Given the description of an element on the screen output the (x, y) to click on. 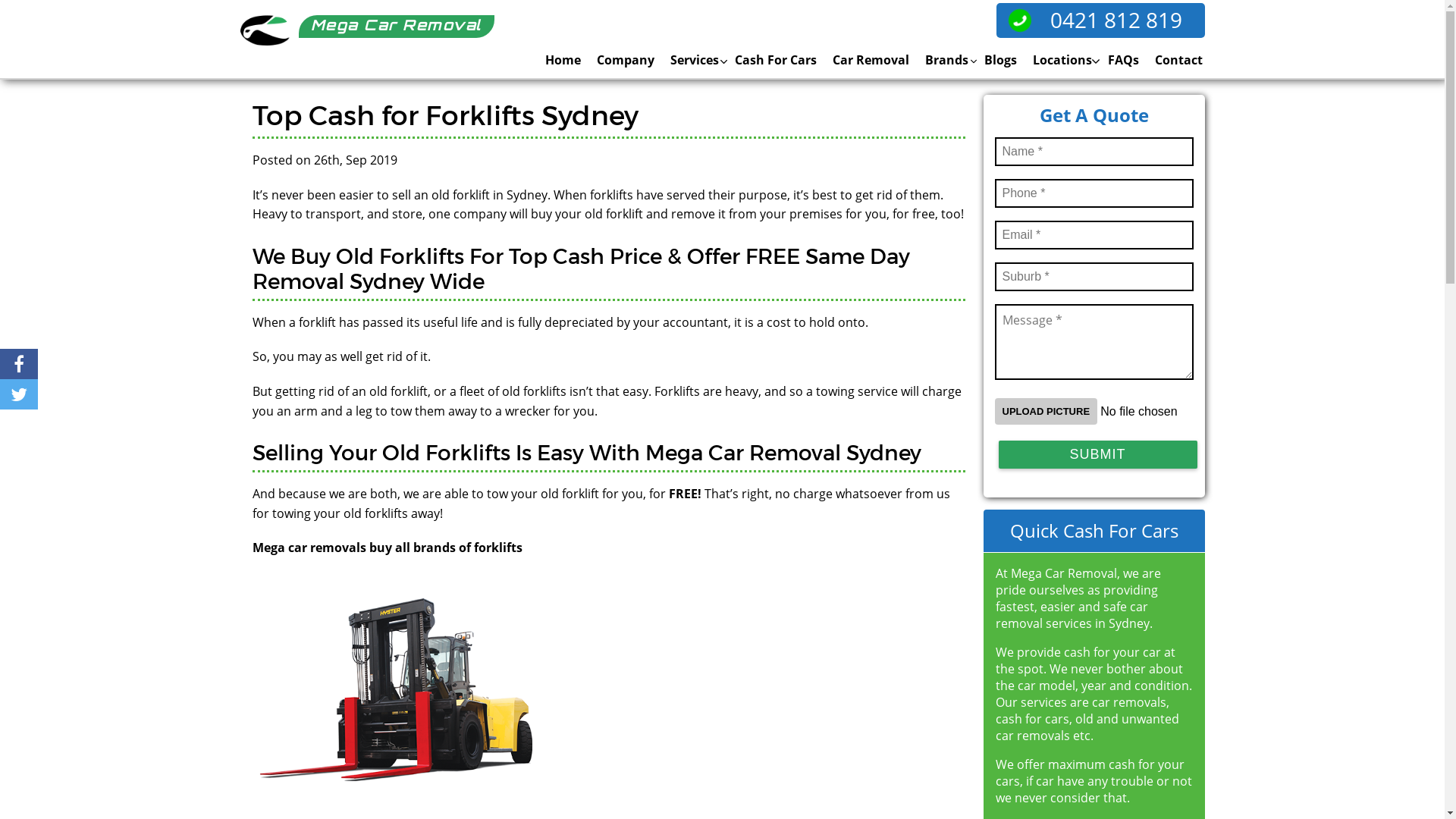
Cash for Forklift Element type: hover (396, 688)
Services Element type: text (688, 59)
Car Removal Element type: text (864, 59)
Locations Element type: text (1055, 59)
Company Element type: text (619, 59)
Share on Facebook! Element type: hover (18, 363)
0421 812 819 Element type: text (1100, 20)
Tweet on Twitter! Element type: hover (18, 394)
Contact Element type: text (1172, 59)
Mega Car Removal Element type: text (366, 31)
Brands Element type: text (940, 59)
Submit Element type: hover (1093, 461)
Home Element type: text (556, 59)
FAQs Element type: text (1117, 59)
Car Removals Sydney Element type: hover (263, 30)
Blogs Element type: text (994, 59)
Submit Element type: text (1096, 454)
Cash For Cars Element type: text (769, 59)
